Given the description of an element on the screen output the (x, y) to click on. 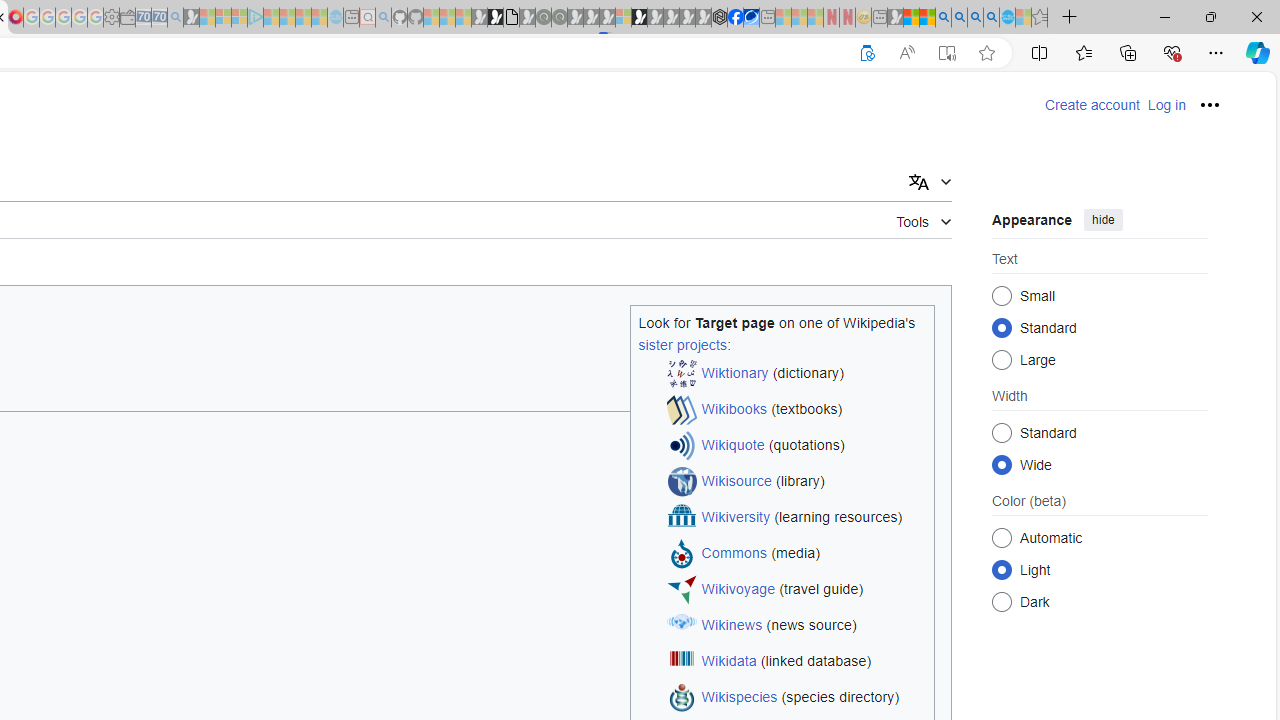
Wikiversity (735, 517)
Wikiquote (733, 445)
Wikidata (728, 661)
Bing Real Estate - Home sales and rental listings - Sleeping (175, 17)
Create account (1092, 105)
Create account (1092, 105)
Light (1002, 569)
